Given the description of an element on the screen output the (x, y) to click on. 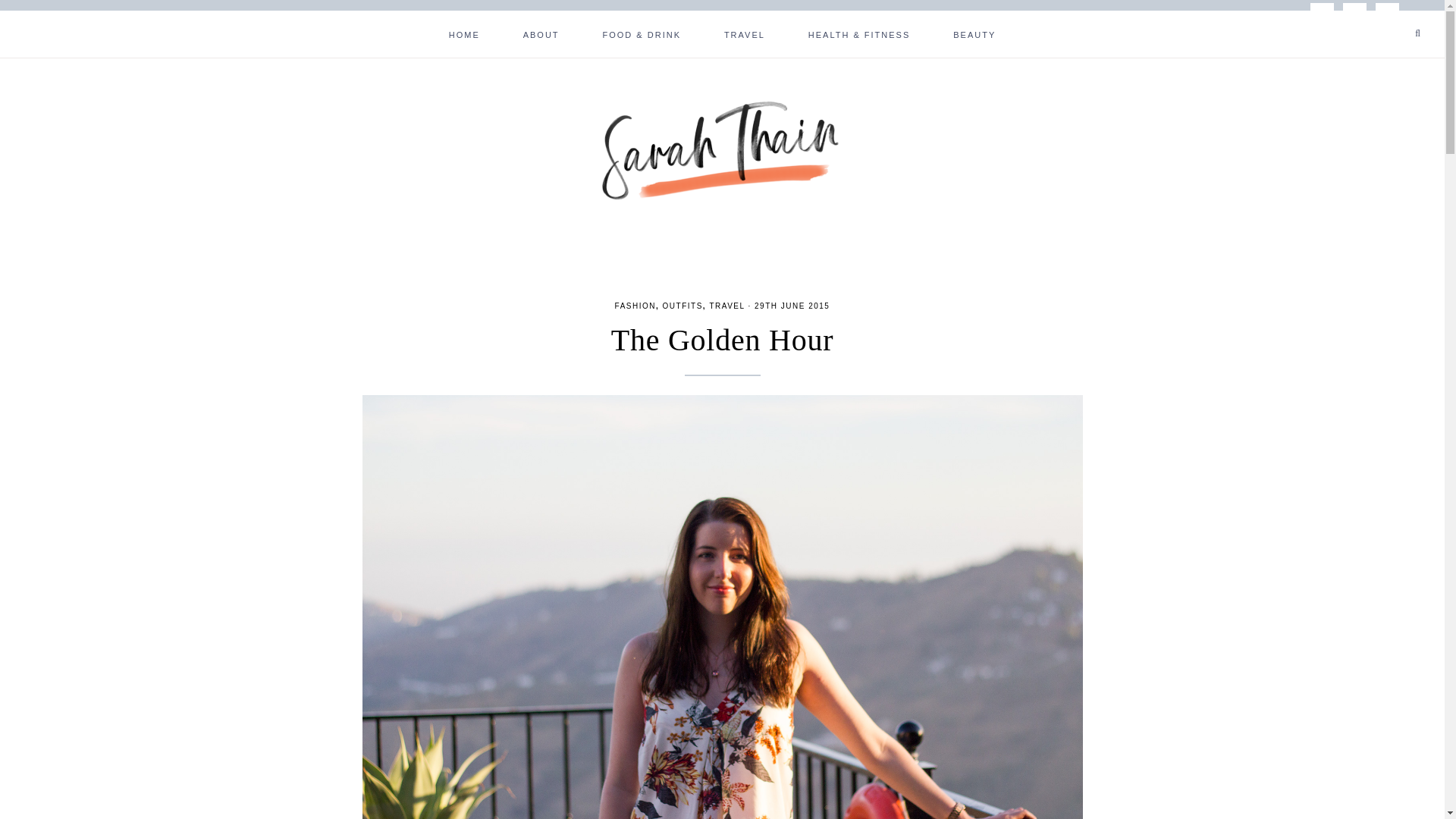
TRAVEL (726, 306)
ABOUT (541, 33)
Twitter (1387, 13)
E-mail (1321, 13)
SARAH THAIN (721, 149)
TRAVEL (744, 33)
Instagram (1354, 15)
Twitter (1387, 15)
Instagram (1354, 13)
BEAUTY (973, 33)
HOME (464, 33)
E-mail (1321, 15)
FASHION (635, 306)
OUTFITS (682, 306)
